Given the description of an element on the screen output the (x, y) to click on. 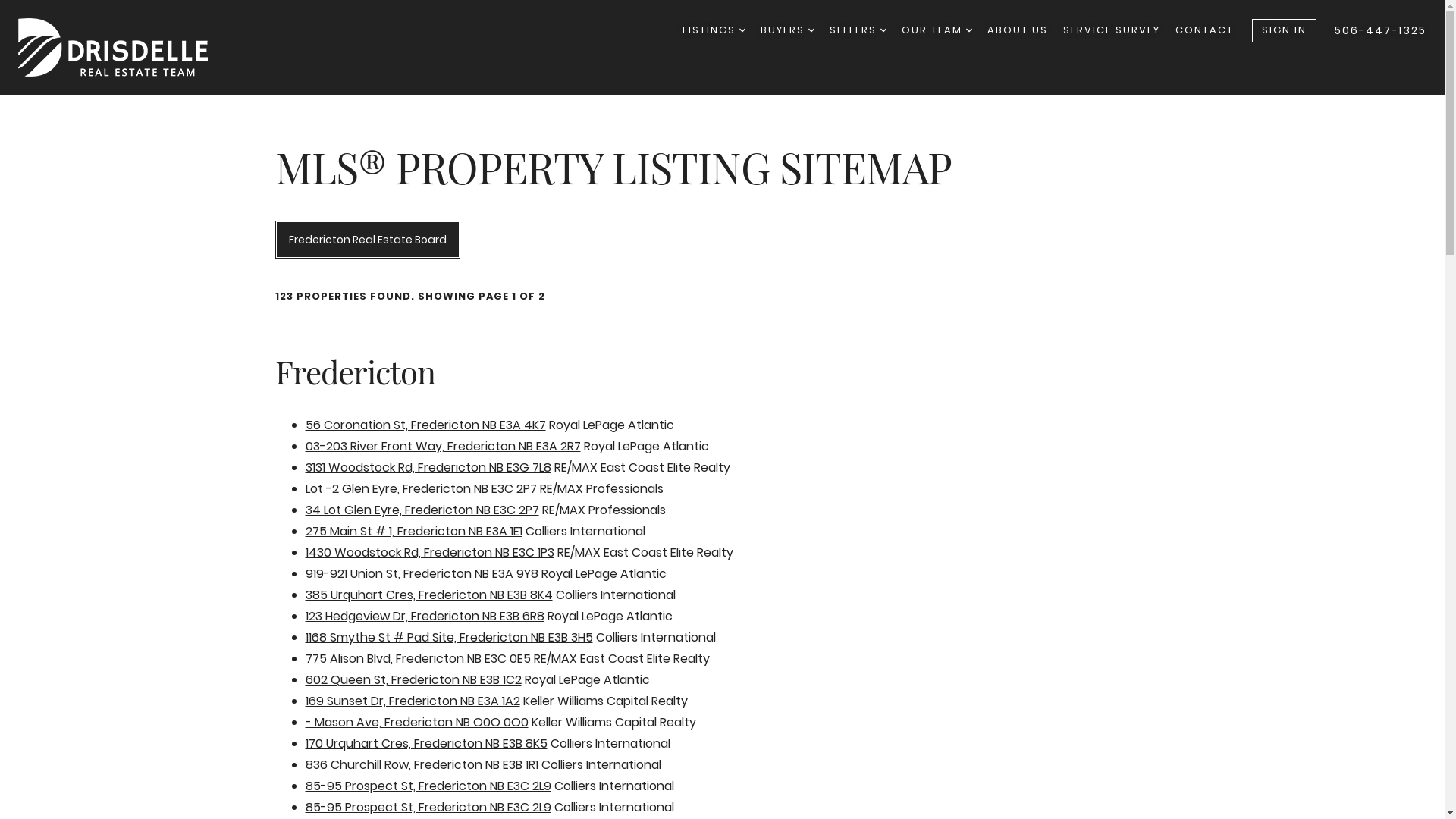
CONTACT Element type: text (1204, 30)
602 Queen St, Fredericton NB E3B 1C2 Element type: text (412, 679)
1430 Woodstock Rd, Fredericton NB E3C 1P3 Element type: text (428, 552)
ABOUT US Element type: text (1017, 30)
170 Urquhart Cres, Fredericton NB E3B 8K5 Element type: text (425, 743)
775 Alison Blvd, Fredericton NB E3C 0E5 Element type: text (417, 658)
3131 Woodstock Rd, Fredericton NB E3G 7L8 Element type: text (427, 467)
- Mason Ave, Fredericton NB O0O 0O0 Element type: text (415, 722)
Lot -2 Glen Eyre, Fredericton NB E3C 2P7 Element type: text (420, 488)
LISTINGS DROPDOWN ARROW Element type: text (713, 30)
169 Sunset Dr, Fredericton NB E3A 1A2 Element type: text (411, 700)
836 Churchill Row, Fredericton NB E3B 1R1 Element type: text (420, 764)
Fredericton Real Estate Board Element type: text (367, 239)
275 Main St # 1, Fredericton NB E3A 1E1 Element type: text (412, 530)
34 Lot Glen Eyre, Fredericton NB E3C 2P7 Element type: text (421, 509)
56 Coronation St, Fredericton NB E3A 4K7 Element type: text (424, 424)
03-203 River Front Way, Fredericton NB E3A 2R7 Element type: text (442, 446)
SIGN IN Element type: text (1284, 30)
1168 Smythe St # Pad Site, Fredericton NB E3B 3H5 Element type: text (448, 637)
919-921 Union St, Fredericton NB E3A 9Y8 Element type: text (420, 573)
BUYERS DROPDOWN ARROW Element type: text (787, 30)
SELLERS DROPDOWN ARROW Element type: text (857, 30)
SERVICE SURVEY Element type: text (1111, 30)
123 Hedgeview Dr, Fredericton NB E3B 6R8 Element type: text (423, 615)
506-447-1325 Element type: text (1380, 30)
85-95 Prospect St, Fredericton NB E3C 2L9 Element type: text (427, 806)
OUR TEAM DROPDOWN ARROW Element type: text (936, 30)
385 Urquhart Cres, Fredericton NB E3B 8K4 Element type: text (428, 594)
85-95 Prospect St, Fredericton NB E3C 2L9 Element type: text (427, 785)
